Given the description of an element on the screen output the (x, y) to click on. 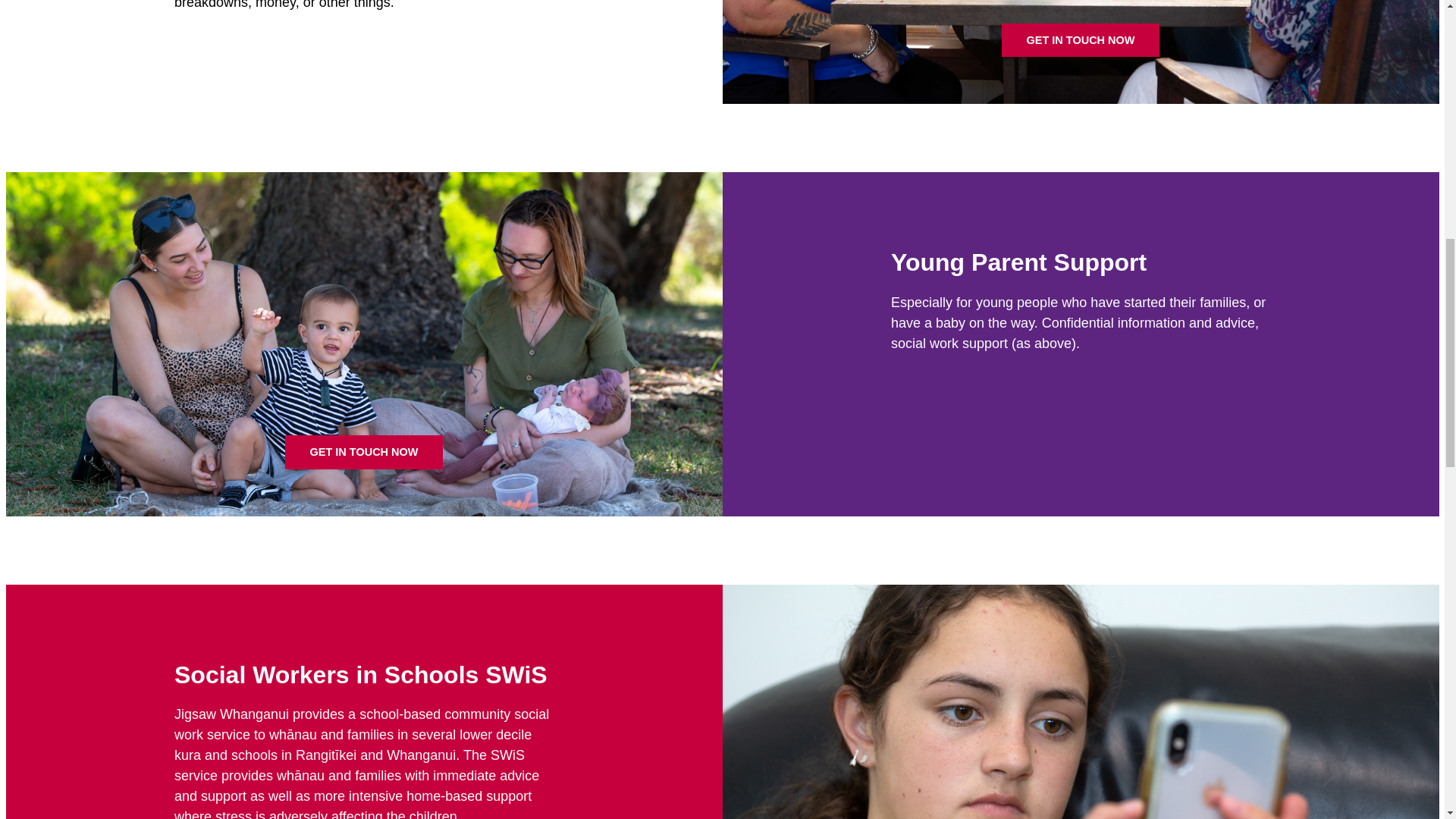
GET IN TOUCH NOW (1079, 39)
GET IN TOUCH NOW (363, 451)
